Given the description of an element on the screen output the (x, y) to click on. 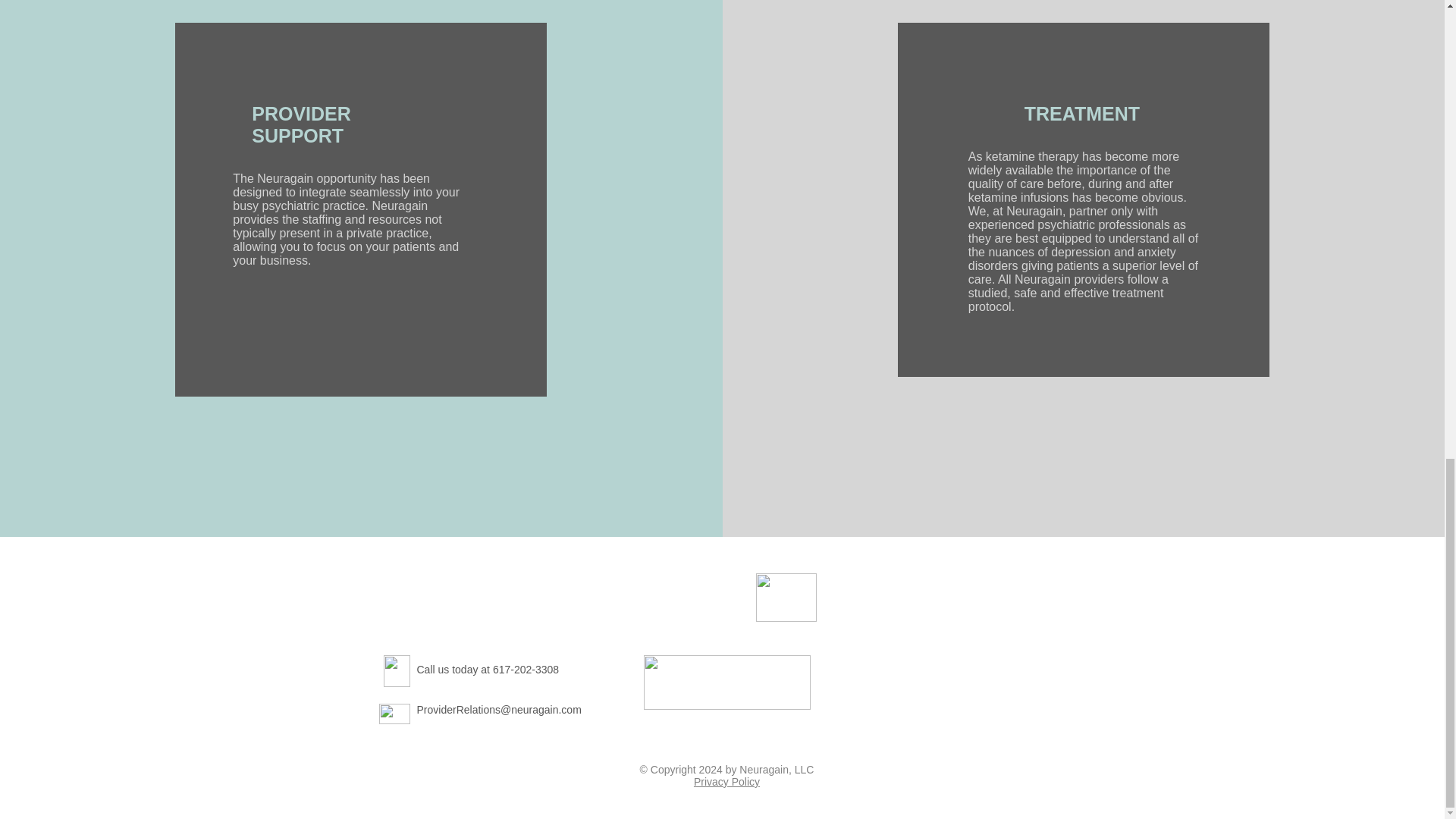
Privacy Policy (727, 781)
